Given the description of an element on the screen output the (x, y) to click on. 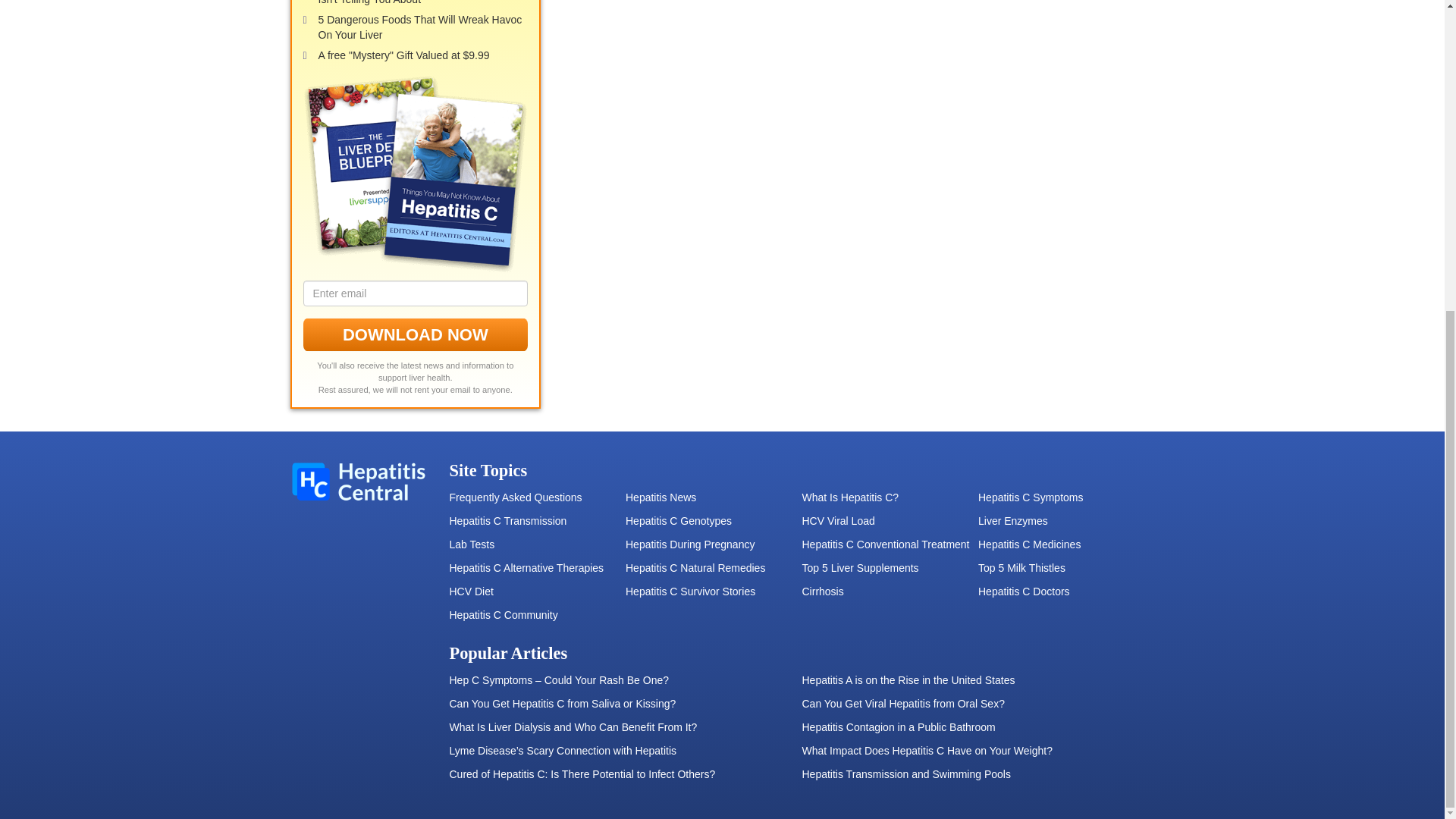
Learn about Hepatitis C Genotypes and their variants. (714, 521)
A basic diet for those with Hepatitis C. (537, 591)
